Given the description of an element on the screen output the (x, y) to click on. 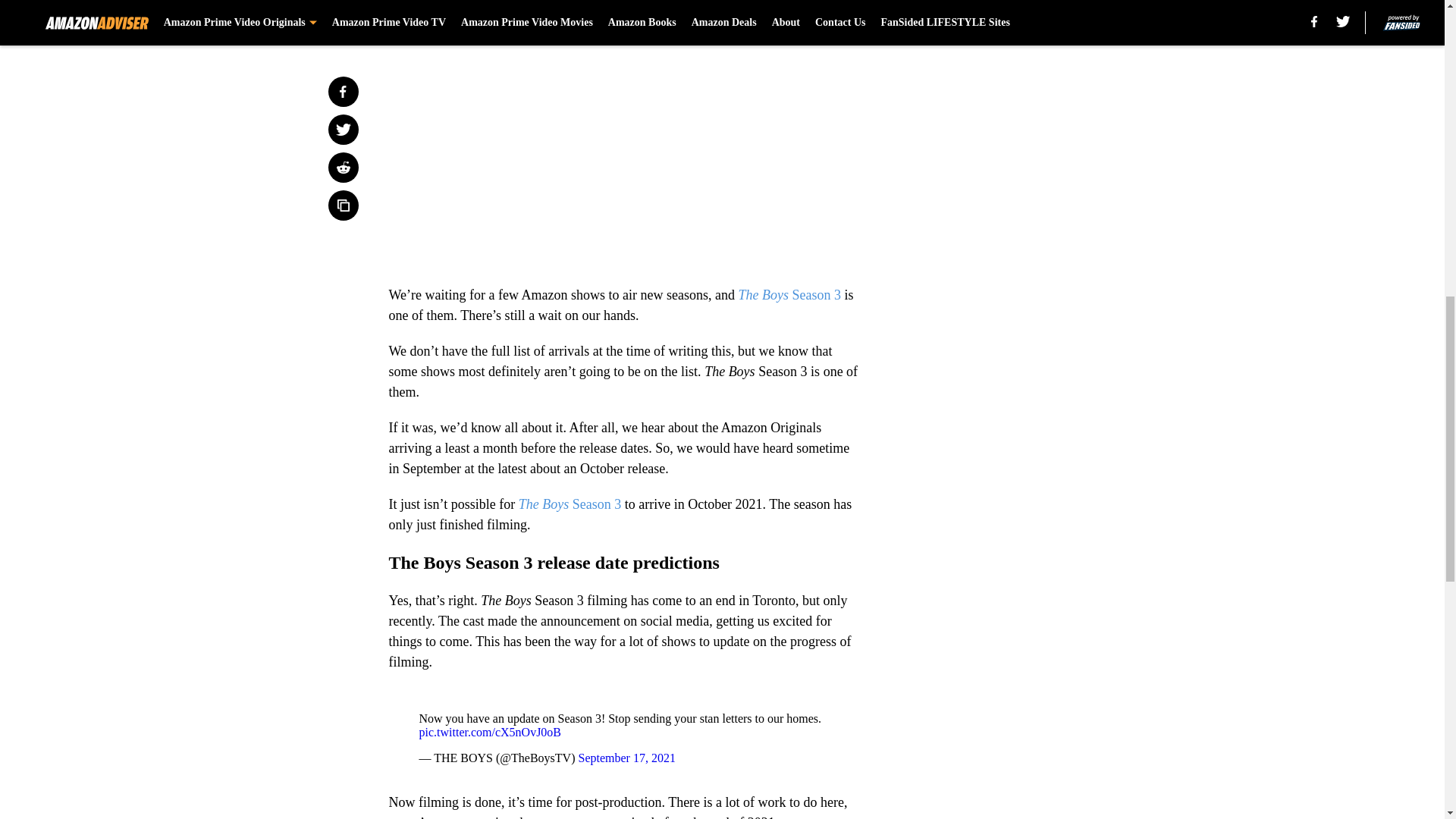
The Boys Season 3 (789, 294)
September 17, 2021 (626, 757)
The Boys Season 3 (569, 503)
